Given the description of an element on the screen output the (x, y) to click on. 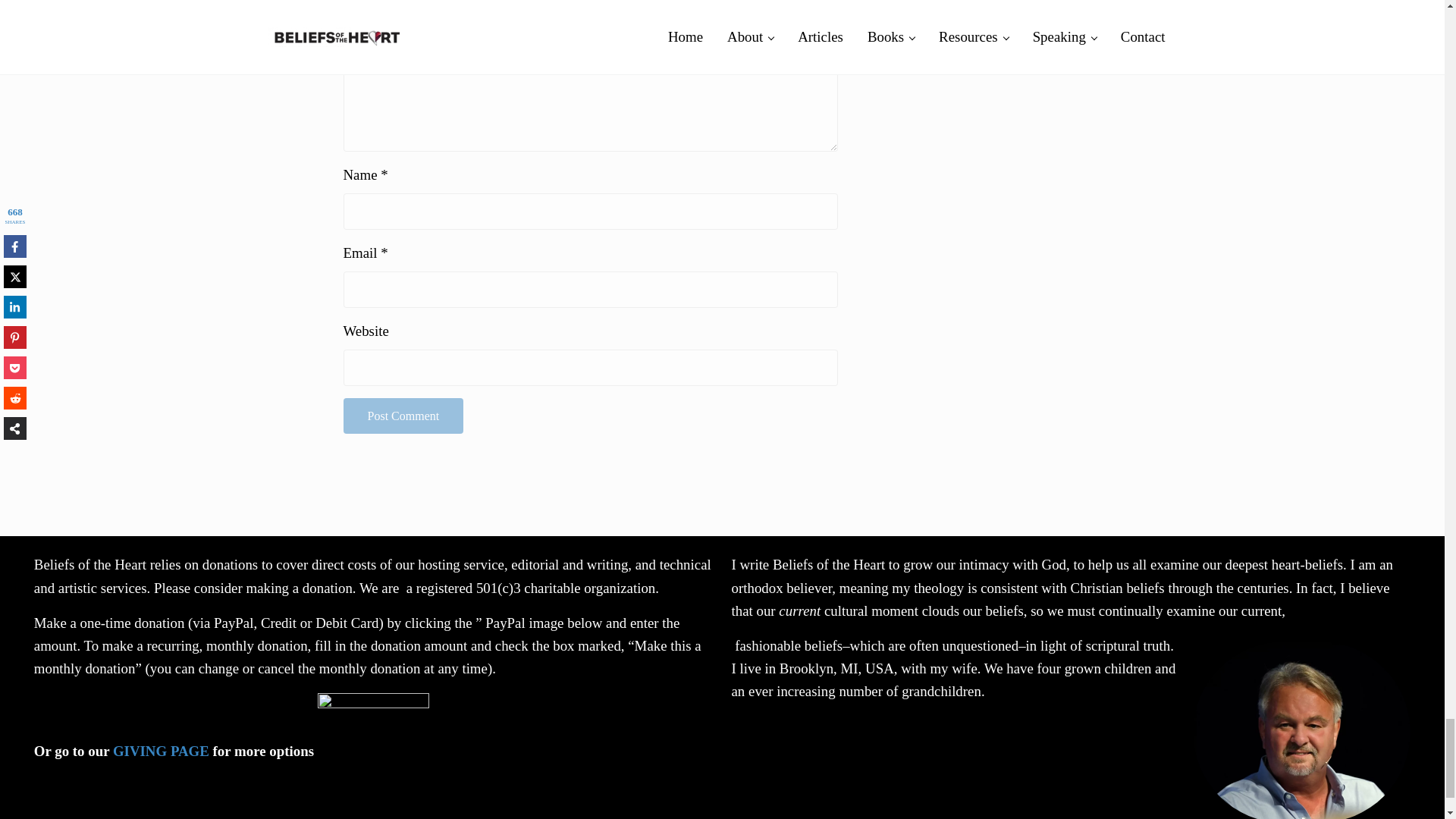
Post Comment (402, 415)
